Given the description of an element on the screen output the (x, y) to click on. 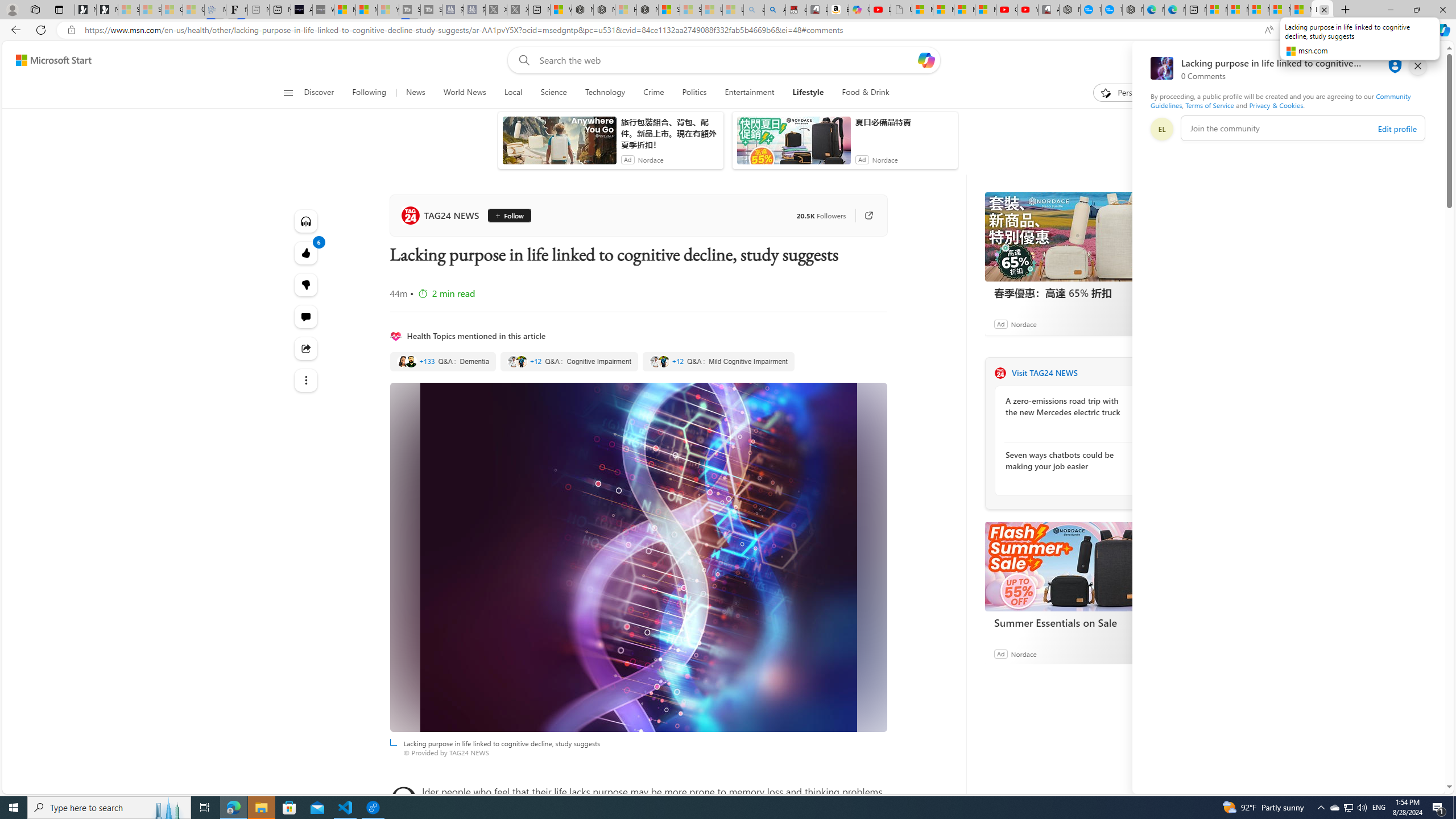
Cognitive Impairment (568, 361)
Community Guidelines (1280, 100)
Local (512, 92)
Dementia (443, 361)
Entertainment (748, 92)
